Given the description of an element on the screen output the (x, y) to click on. 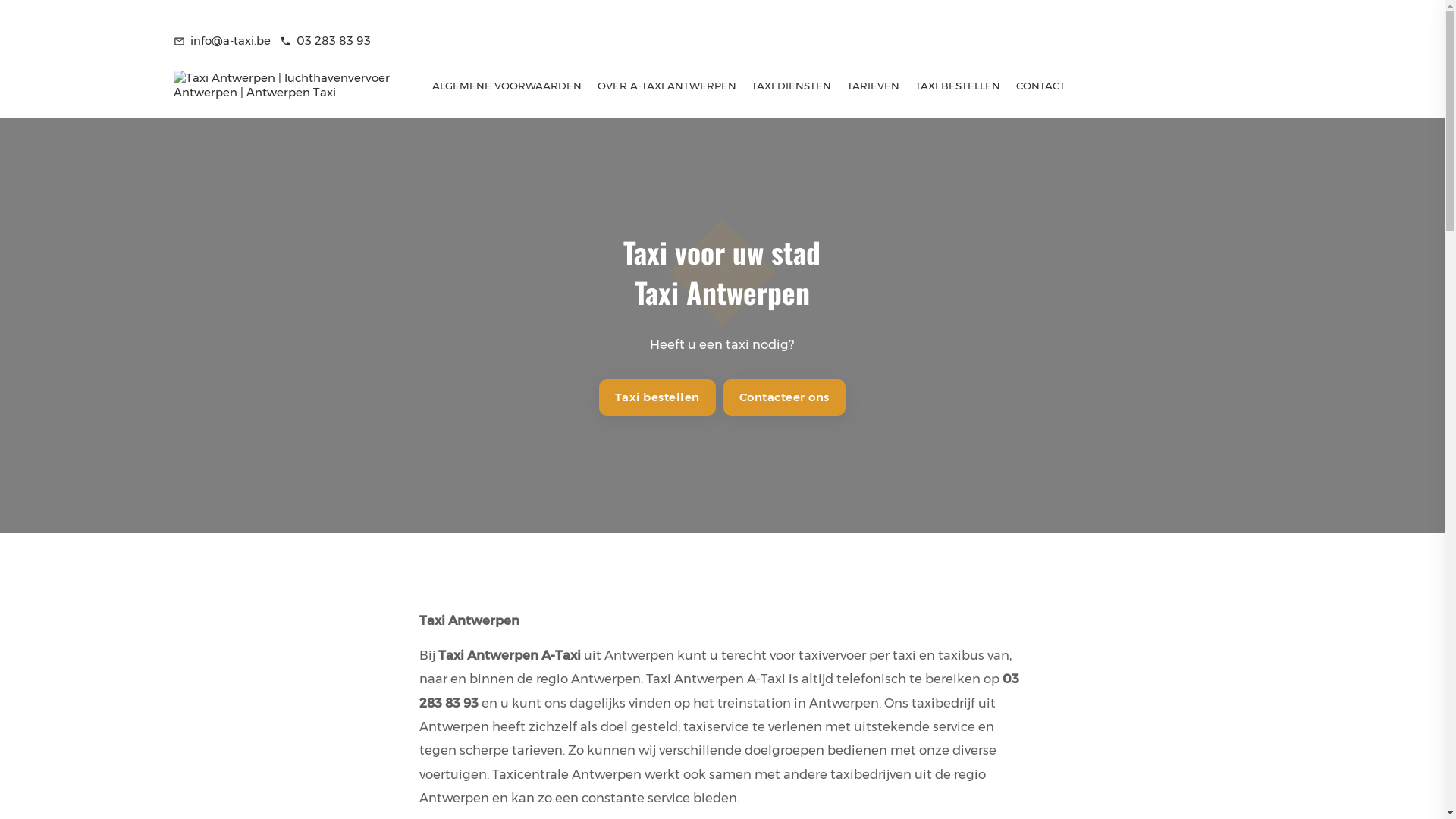
CONTACT Element type: text (1041, 85)
TARIEVEN Element type: text (873, 85)
Contacteer ons Element type: text (784, 396)
Taxi bestellen Element type: text (657, 396)
ALGEMENE VOORWAARDEN Element type: text (506, 85)
TAXI BESTELLEN Element type: text (957, 85)
mail_outline
info@a-taxi.be Element type: text (221, 40)
phone
03 283 83 93 Element type: text (324, 40)
TAXI DIENSTEN Element type: text (791, 85)
OVER A-TAXI ANTWERPEN Element type: text (666, 85)
